Given the description of an element on the screen output the (x, y) to click on. 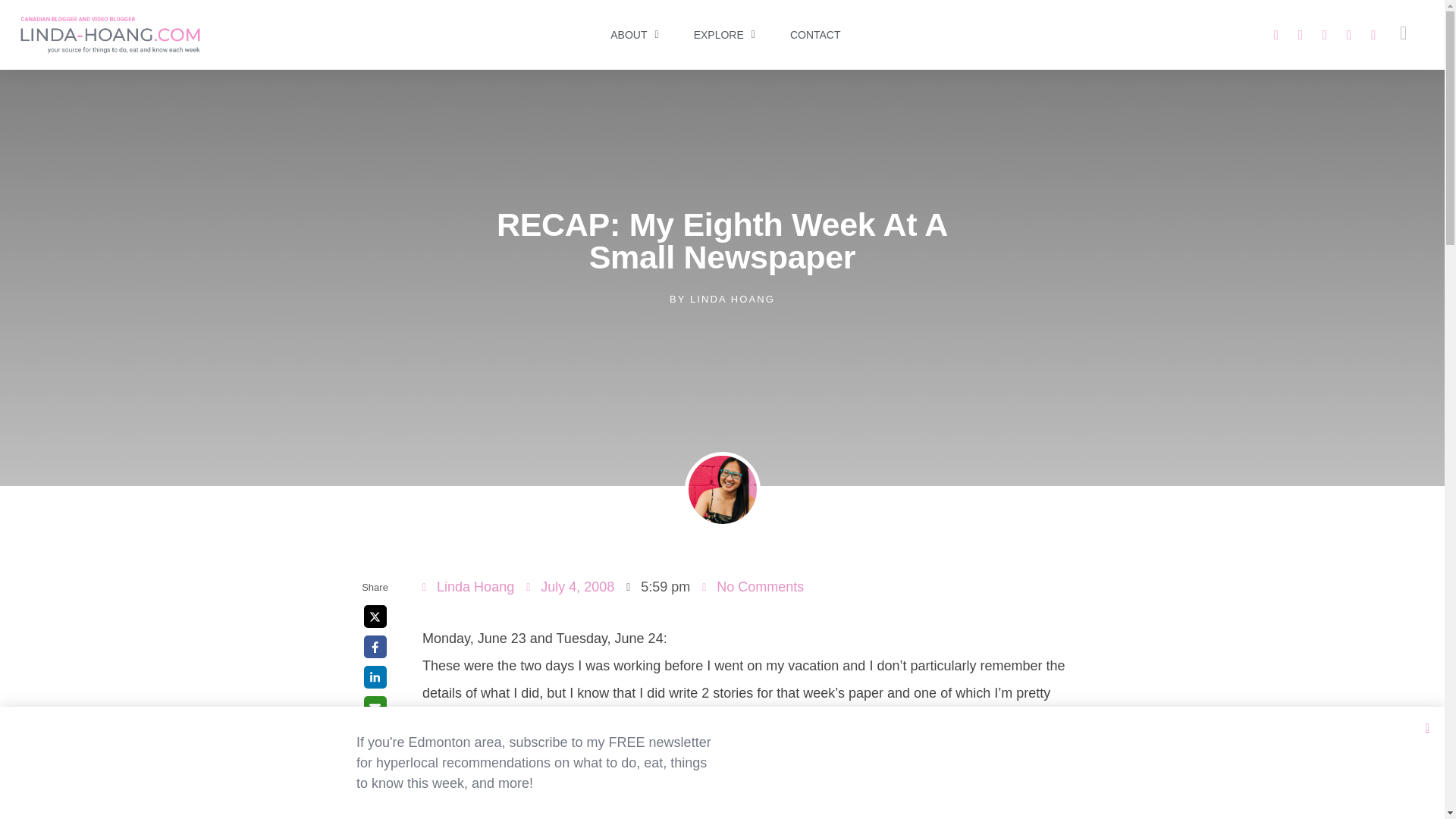
EXPLORE (724, 34)
CONTACT (815, 34)
ABOUT (633, 34)
